Given the description of an element on the screen output the (x, y) to click on. 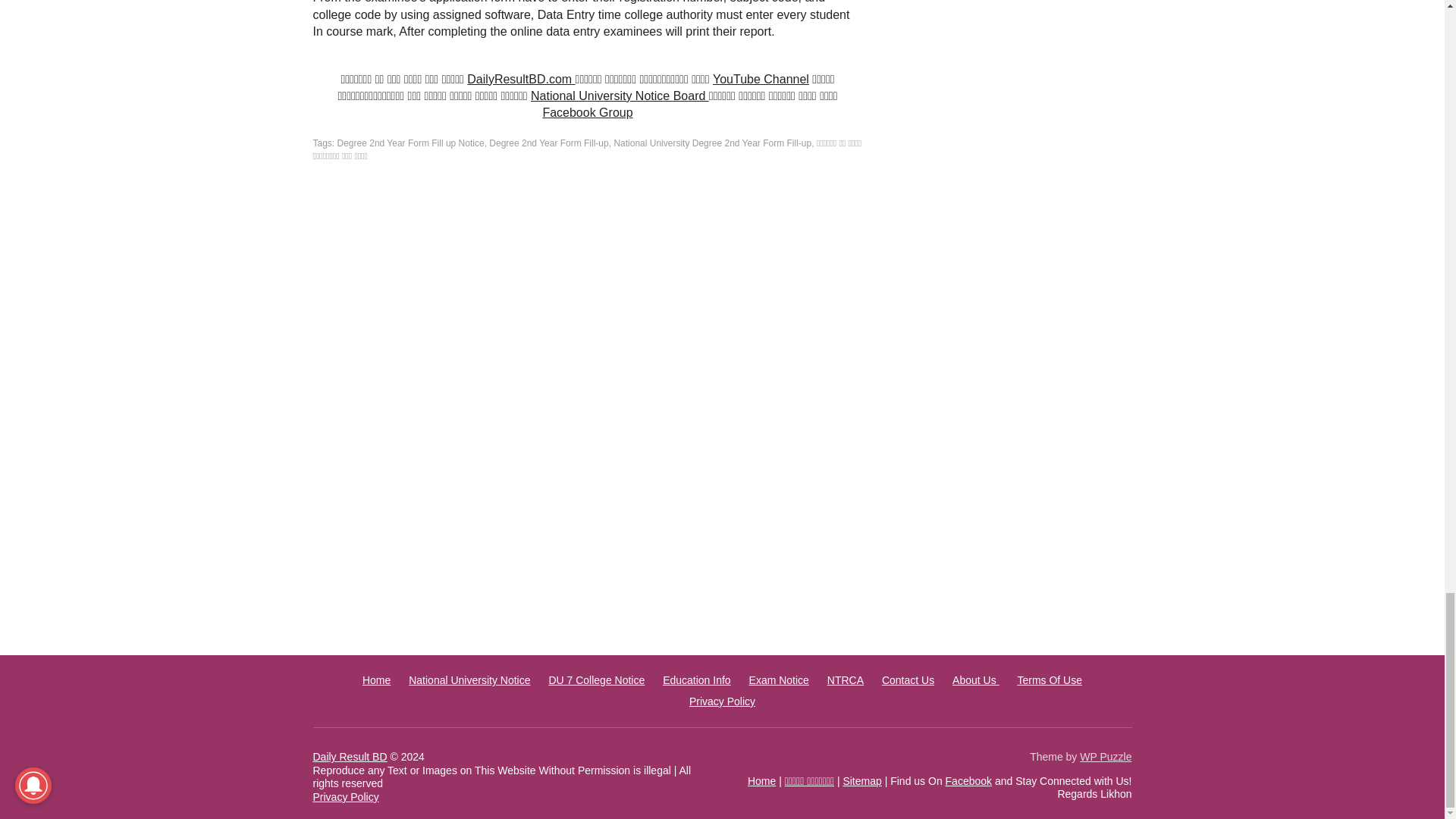
YouTube Channel (761, 78)
Degree 2nd Year Form Fill-up (548, 143)
Home (376, 680)
Exam Notice (779, 680)
Degree 2nd Year Form Fill up Notice (410, 143)
DailyResultBD.com (521, 78)
National University Notice Board (620, 95)
Facebook Group (586, 112)
National University Degree 2nd Year Form Fill-up (711, 143)
DU 7 College Notice (596, 680)
